Given the description of an element on the screen output the (x, y) to click on. 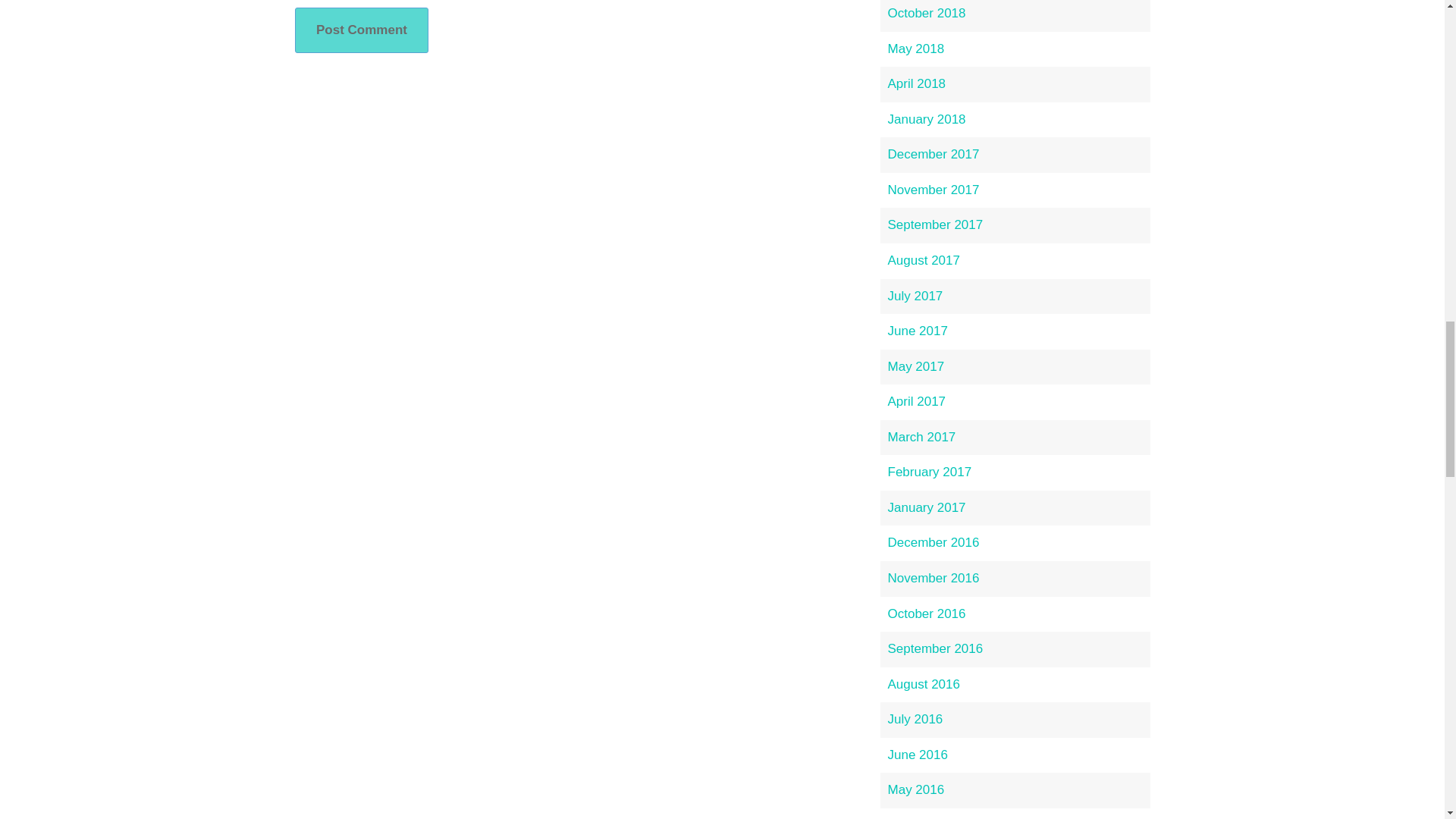
Post Comment (361, 30)
